Given the description of an element on the screen output the (x, y) to click on. 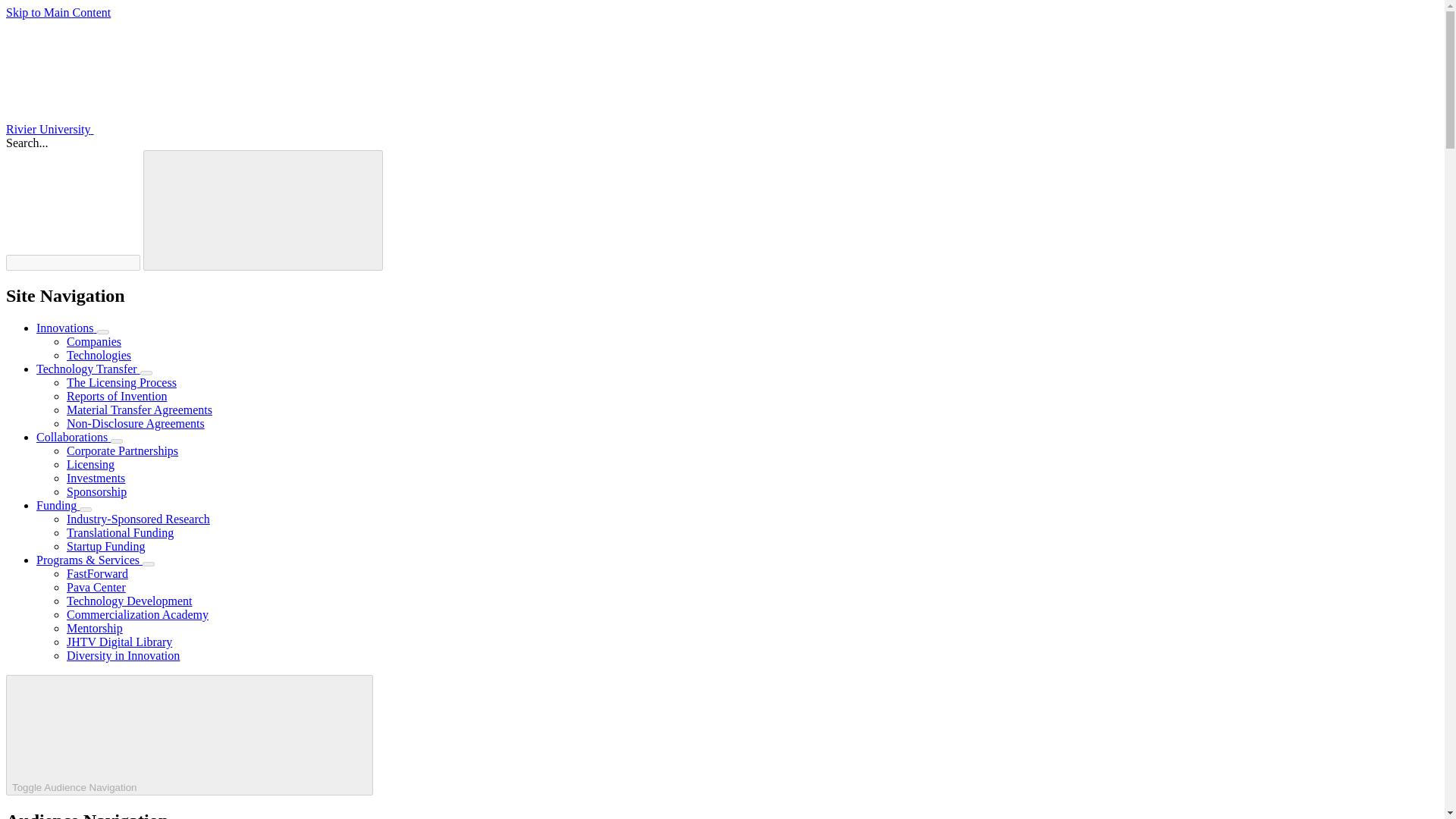
Industry-Sponsored Research (137, 518)
FastForward (97, 573)
Innovations (66, 327)
JHTV Digital Library (118, 641)
Non-Disclosure Agreements (135, 422)
Technology Development (129, 600)
Diversity in Innovation (122, 655)
Collaborations (73, 436)
Rivier University (163, 128)
The Licensing Process (121, 382)
Licensing (90, 463)
Technologies (98, 354)
Companies (93, 341)
Pava Center (95, 586)
Commercialization Academy (137, 614)
